Given the description of an element on the screen output the (x, y) to click on. 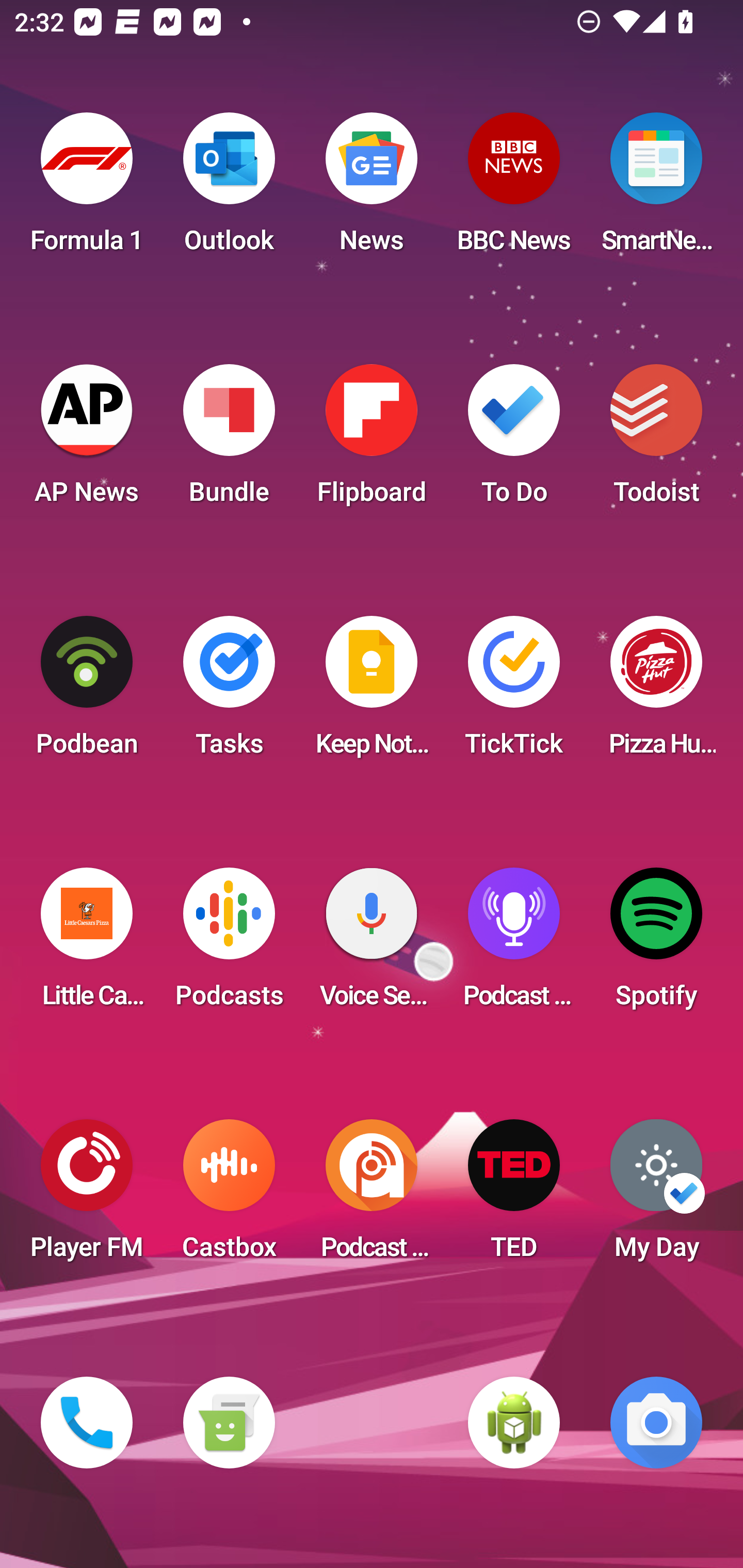
Formula 1 (86, 188)
Outlook (228, 188)
News (371, 188)
BBC News (513, 188)
SmartNews (656, 188)
AP News (86, 440)
Bundle (228, 440)
Flipboard (371, 440)
To Do (513, 440)
Todoist (656, 440)
Podbean (86, 692)
Tasks (228, 692)
Keep Notes (371, 692)
TickTick (513, 692)
Pizza Hut HK & Macau (656, 692)
Little Caesars Pizza (86, 943)
Podcasts (228, 943)
Voice Search (371, 943)
Podcast Player (513, 943)
Spotify (656, 943)
Player FM (86, 1195)
Castbox (228, 1195)
Podcast Addict (371, 1195)
TED (513, 1195)
My Day (656, 1195)
Phone (86, 1422)
Messaging (228, 1422)
WebView Browser Tester (513, 1422)
Camera (656, 1422)
